Given the description of an element on the screen output the (x, y) to click on. 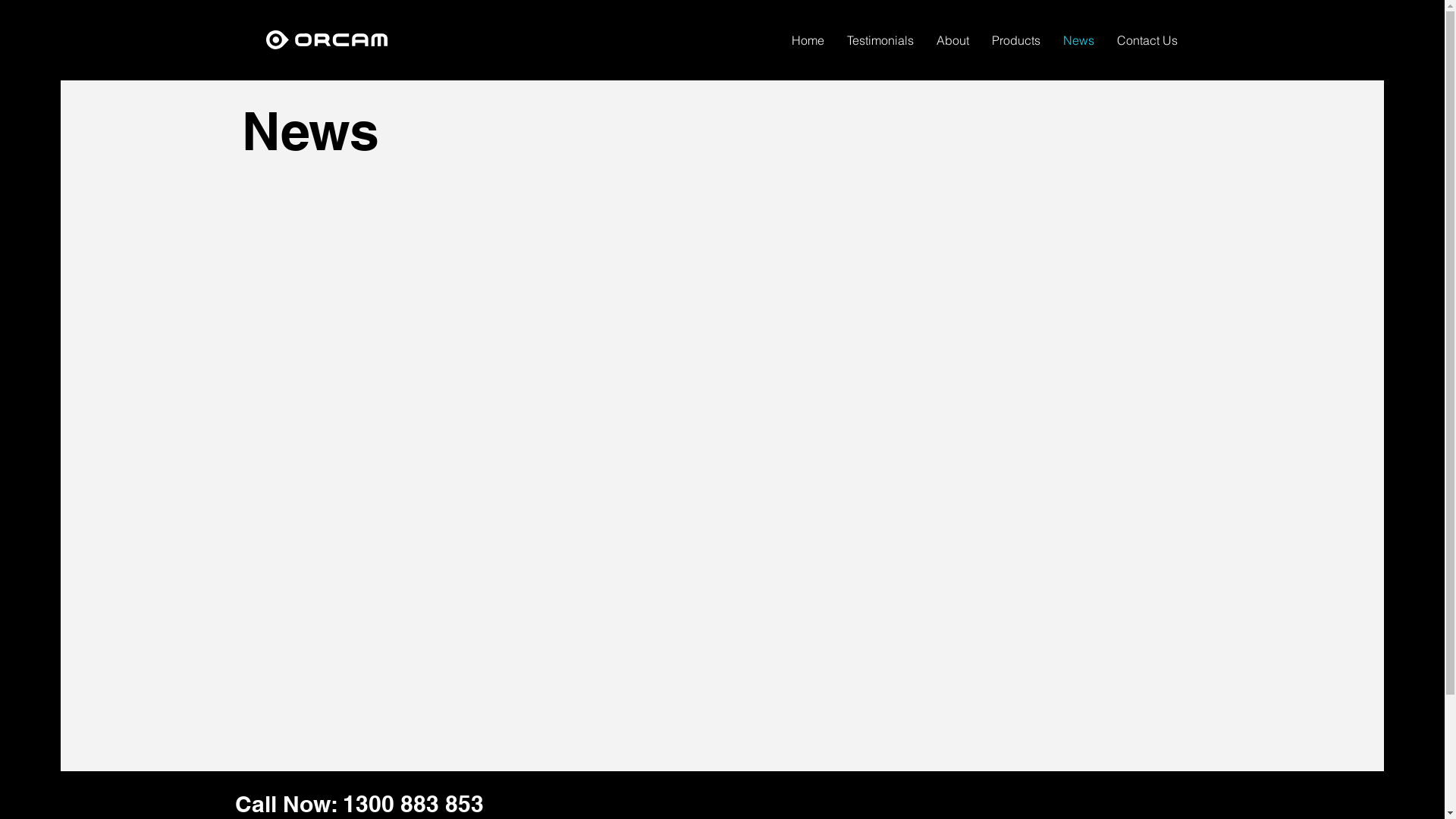
About Element type: text (952, 40)
Home Element type: text (807, 40)
Testimonials Element type: text (880, 40)
Contact Us Element type: text (1147, 40)
News Element type: text (1078, 40)
